Given the description of an element on the screen output the (x, y) to click on. 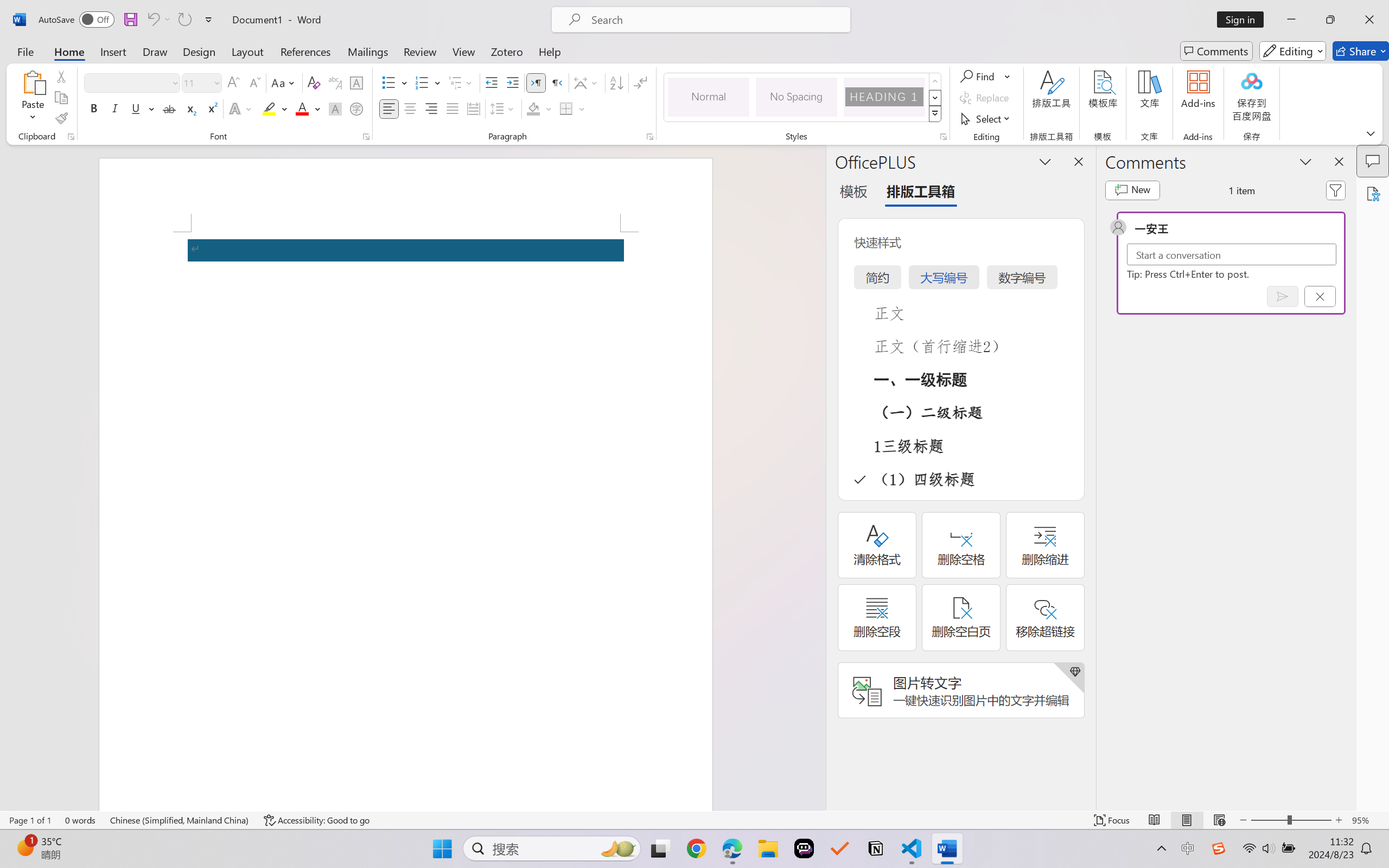
Left-to-Right (535, 82)
Start a conversation (1231, 254)
AutomationID: QuickStylesGallery (802, 97)
